Given the description of an element on the screen output the (x, y) to click on. 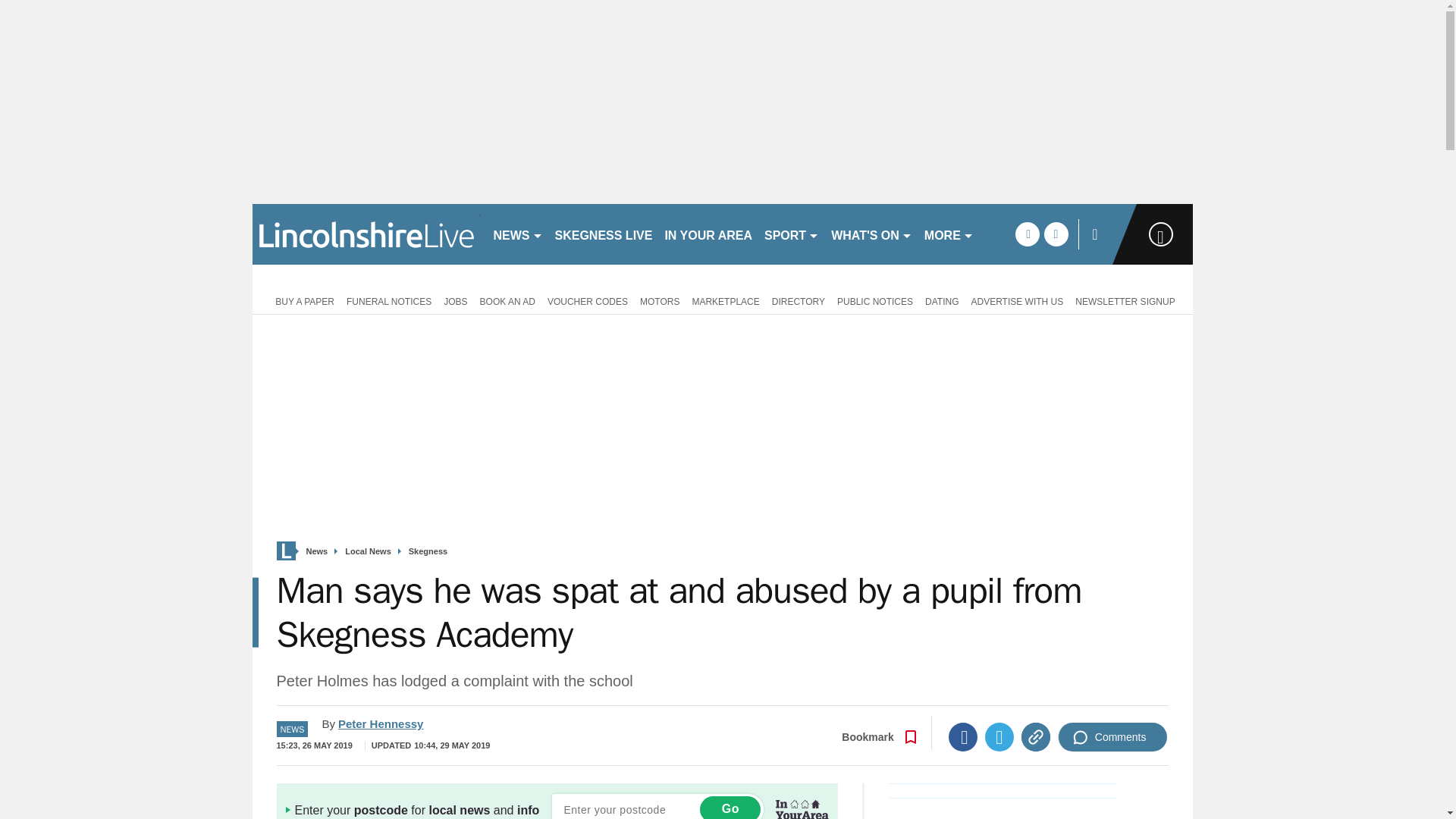
twitter (1055, 233)
Comments (1112, 736)
Twitter (999, 736)
lincolnshirelive (365, 233)
IN YOUR AREA (708, 233)
BUY A PAPER (301, 300)
Go (730, 807)
WHAT'S ON (871, 233)
Facebook (962, 736)
NEWS (517, 233)
MORE (948, 233)
facebook (1026, 233)
SPORT (791, 233)
SKEGNESS LIVE (603, 233)
